Given the description of an element on the screen output the (x, y) to click on. 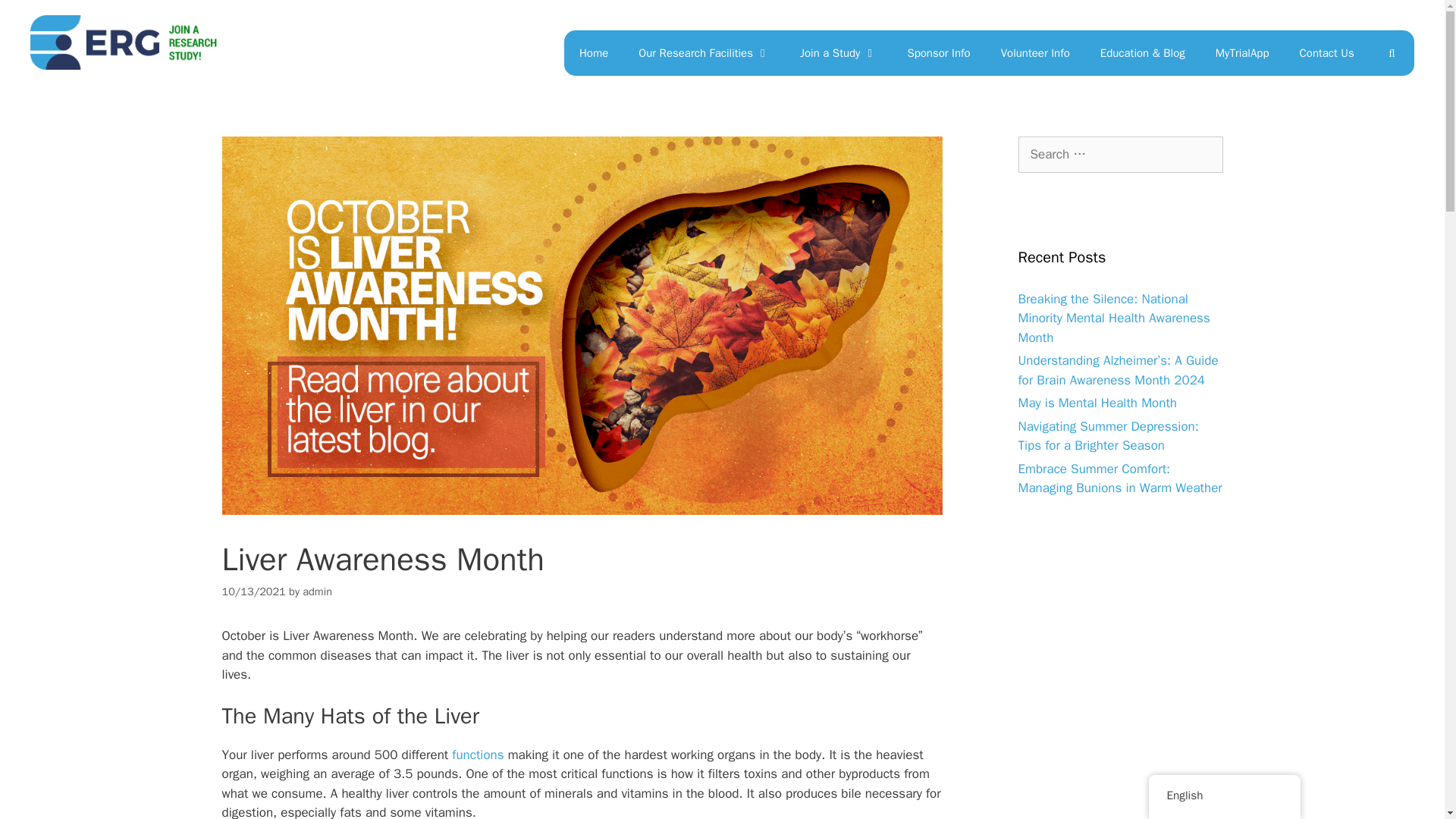
Home (593, 53)
View all posts by admin (316, 591)
Contact Us (1327, 53)
Sponsor Info (938, 53)
Our Research Facilities (703, 53)
MyTrialApp (1241, 53)
Volunteer Info (1034, 53)
Join a Study (837, 53)
Search for: (1120, 154)
